Given the description of an element on the screen output the (x, y) to click on. 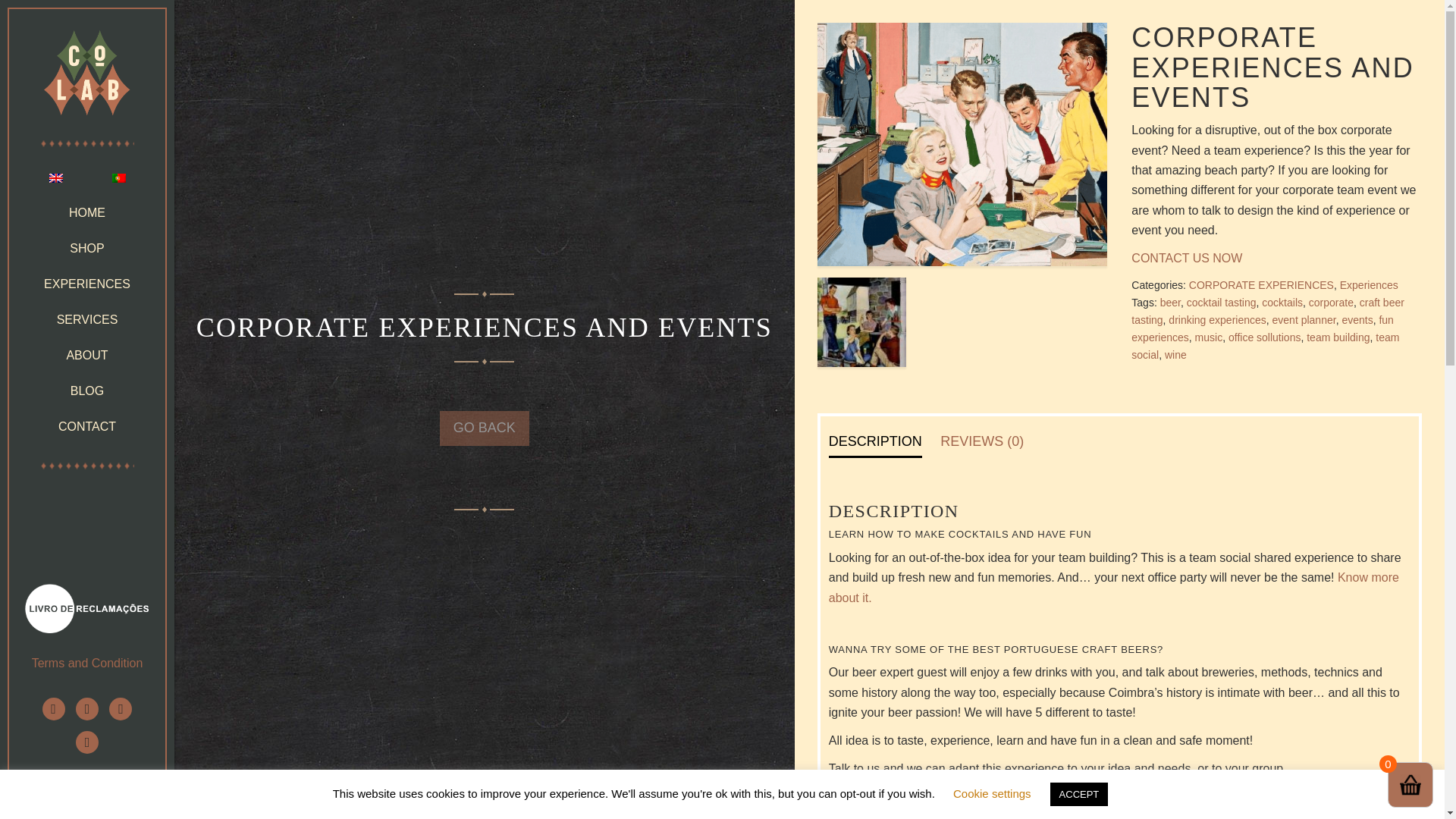
event planner (1304, 319)
corporate (1331, 302)
CONTACT US NOW (1186, 257)
CONTACT (87, 426)
beer (1170, 302)
Experiences (1368, 285)
cocktails (1282, 302)
Terms and Condition (87, 662)
TeAmbuilding2 (861, 321)
BLOG (86, 390)
cocktail tasting (1221, 302)
READ REVIEWS OF COOLA BOOLA COLAB - BEER GARDEN (84, 794)
craft beer tasting (1268, 310)
GO BACK (484, 428)
SERVICES (86, 318)
